Given the description of an element on the screen output the (x, y) to click on. 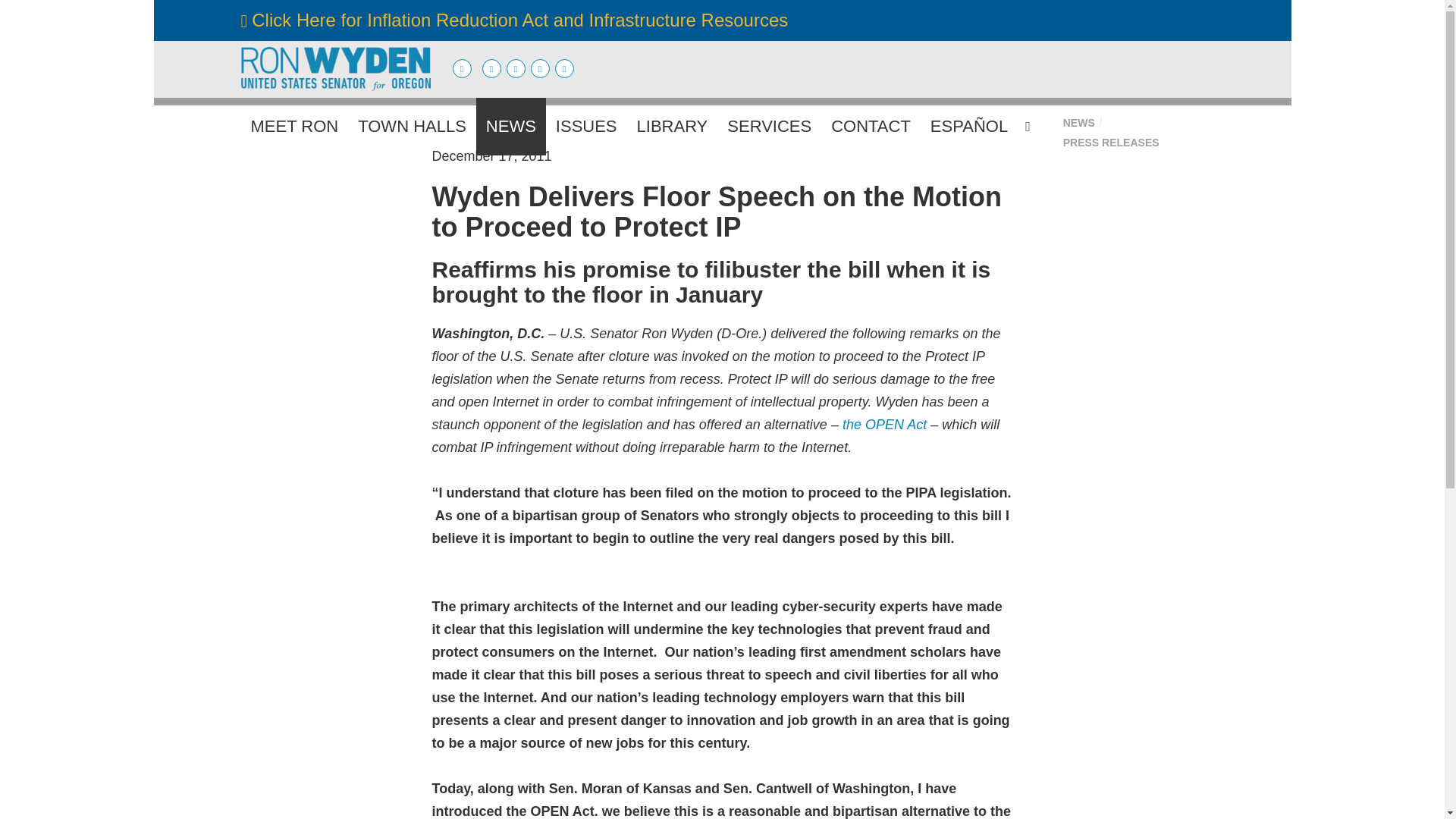
NEWS (1078, 122)
MEET RON (295, 125)
LIBRARY (672, 125)
NEWS (511, 125)
TOWN HALLS (411, 125)
SERVICES (769, 125)
ISSUES (586, 125)
the OPEN Act (884, 424)
CONTACT (870, 125)
